Given the description of an element on the screen output the (x, y) to click on. 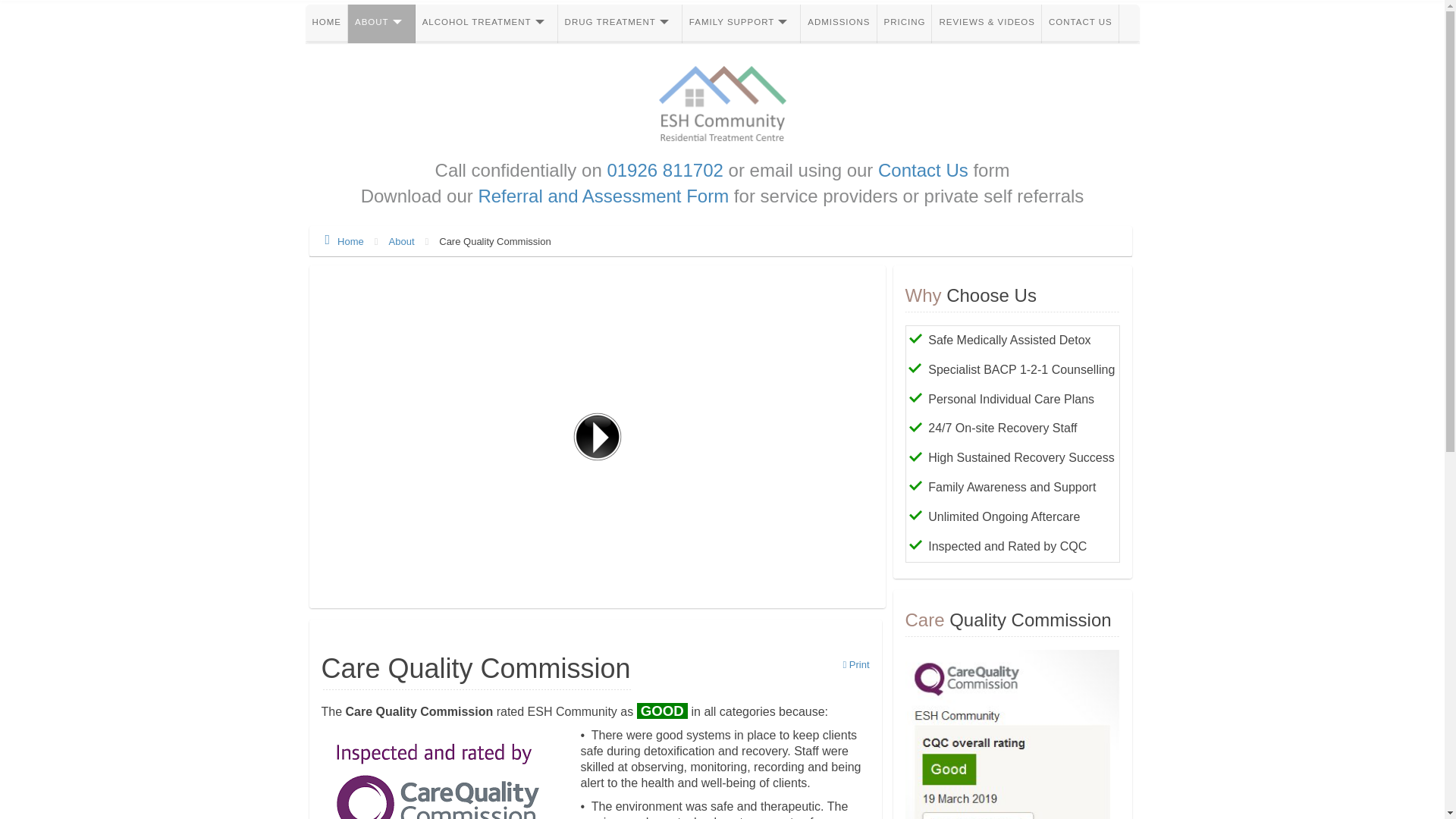
ABOUT (380, 23)
ADMISSIONS (838, 23)
DRUG TREATMENT (619, 23)
About (402, 239)
FAMILY SUPPORT (741, 23)
ALCOHOL TREATMENT (485, 23)
Contact Us (922, 169)
Print (856, 664)
01926 811702 (665, 169)
CONTACT US (1080, 23)
